Given the description of an element on the screen output the (x, y) to click on. 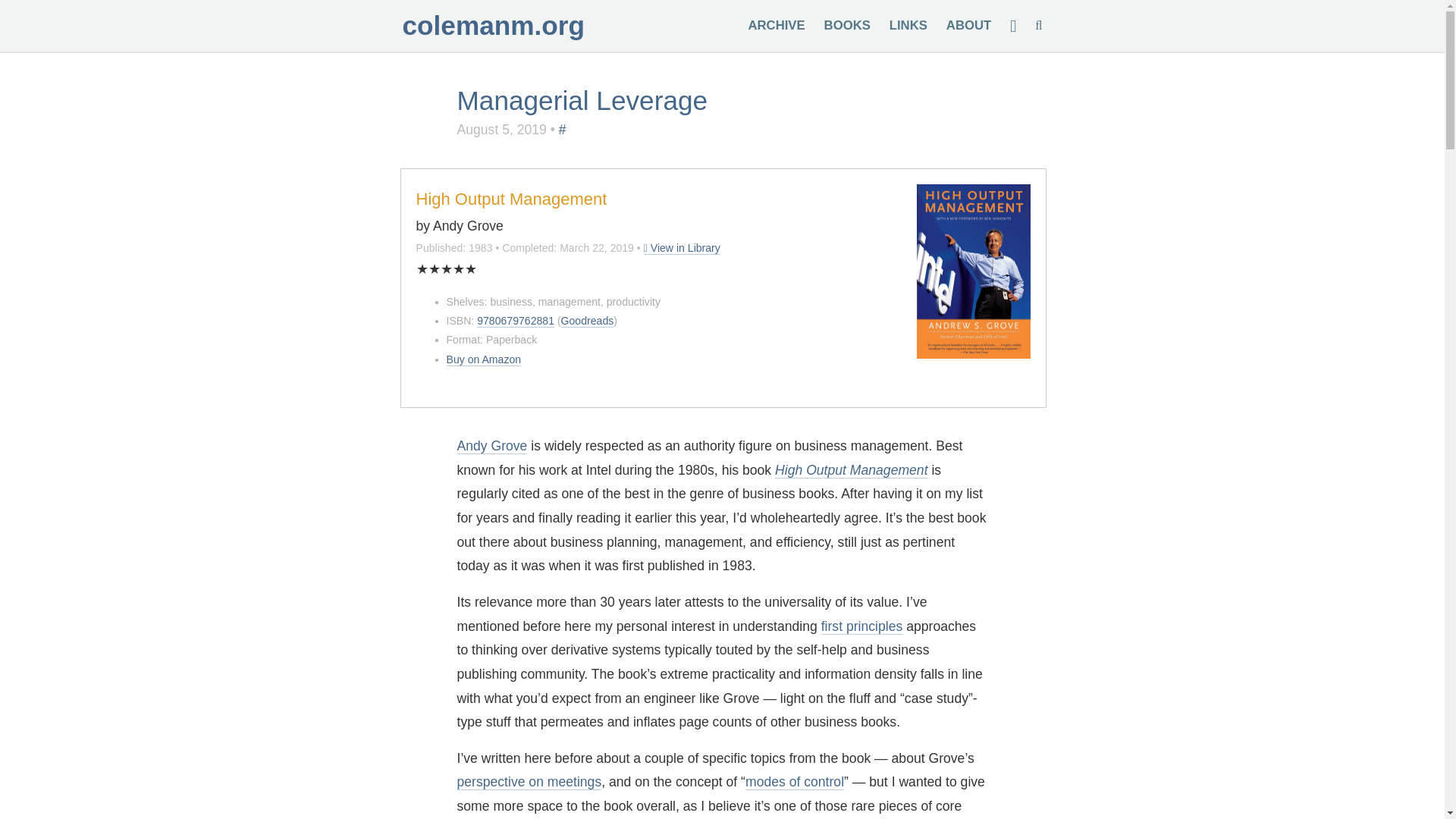
Andy Grove (492, 446)
Andy Grove (492, 446)
modes of control (794, 781)
first principles (861, 626)
perspective on meetings (529, 781)
BOOKS (847, 25)
Permalink (681, 247)
Modes of Control (794, 781)
Andy Grove on Meetings (529, 781)
ARCHIVE (776, 25)
